Given the description of an element on the screen output the (x, y) to click on. 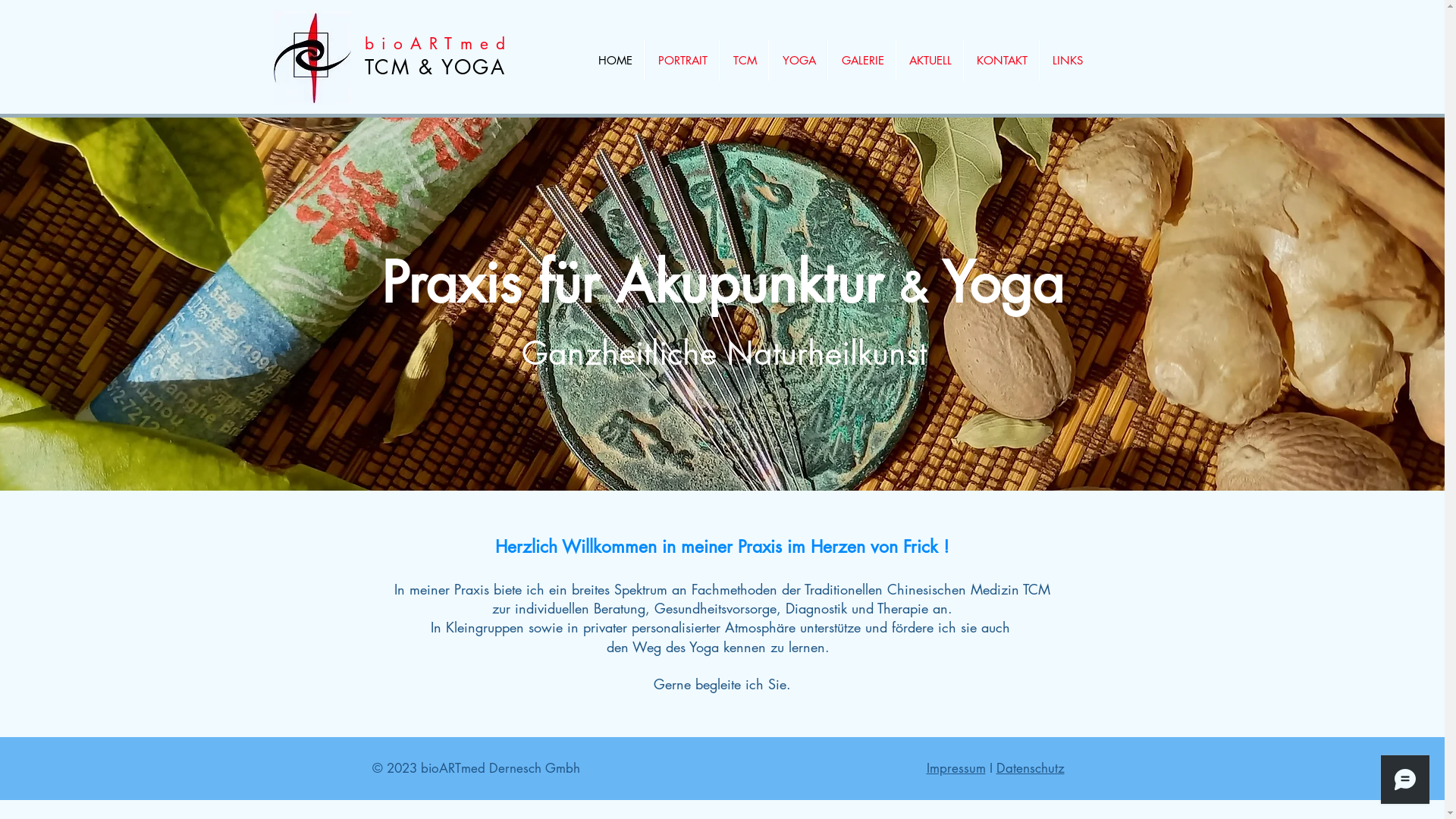
Datenschutz Element type: text (1030, 767)
PORTRAIT Element type: text (681, 60)
YOGA Element type: text (797, 60)
HOME Element type: text (613, 60)
b i o A R T m e d Element type: text (435, 43)
Impressum Element type: text (955, 767)
TCM & YOGA Element type: text (434, 67)
LINKS Element type: text (1065, 60)
AKTUELL Element type: text (929, 60)
KONTAKT Element type: text (1000, 60)
GALERIE Element type: text (861, 60)
TCM Element type: text (742, 60)
